Given the description of an element on the screen output the (x, y) to click on. 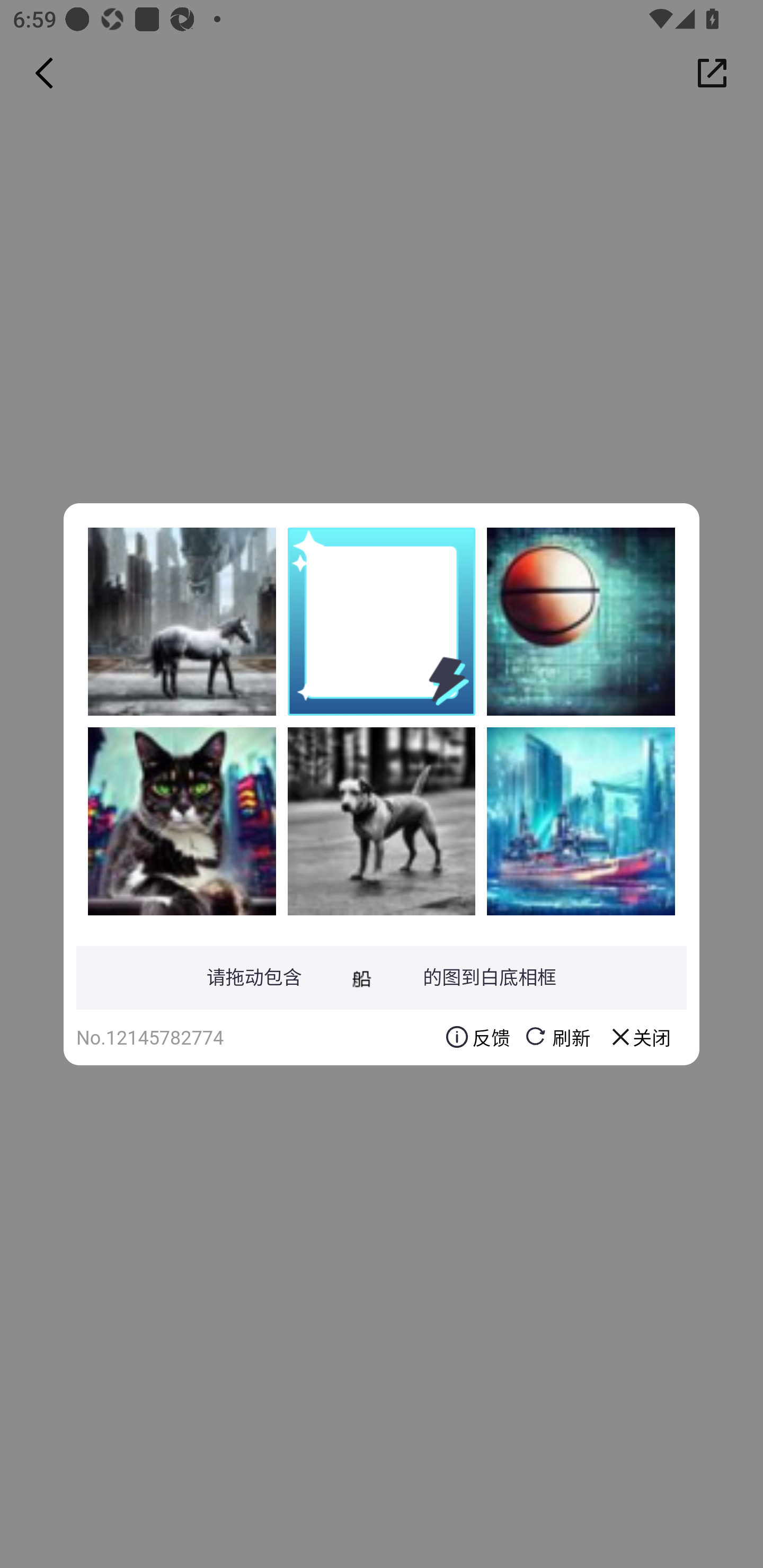
5soz (181, 621)
qfXYhLv+P3jL+ (580, 621)
+ (181, 820)
6yGoWC8mmuqcwXD+EoV (580, 820)
